Given the description of an element on the screen output the (x, y) to click on. 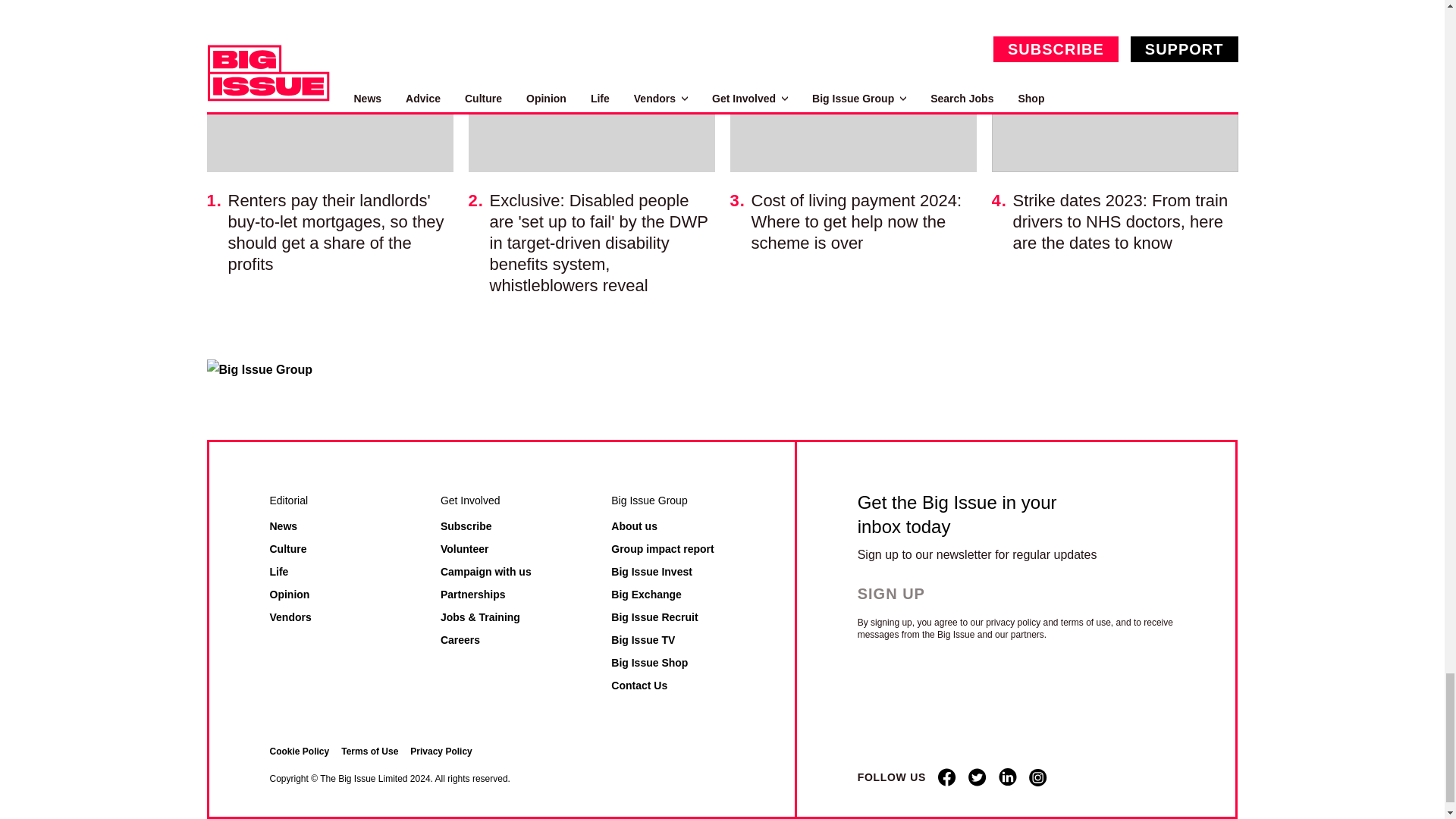
Button (904, 593)
